Given the description of an element on the screen output the (x, y) to click on. 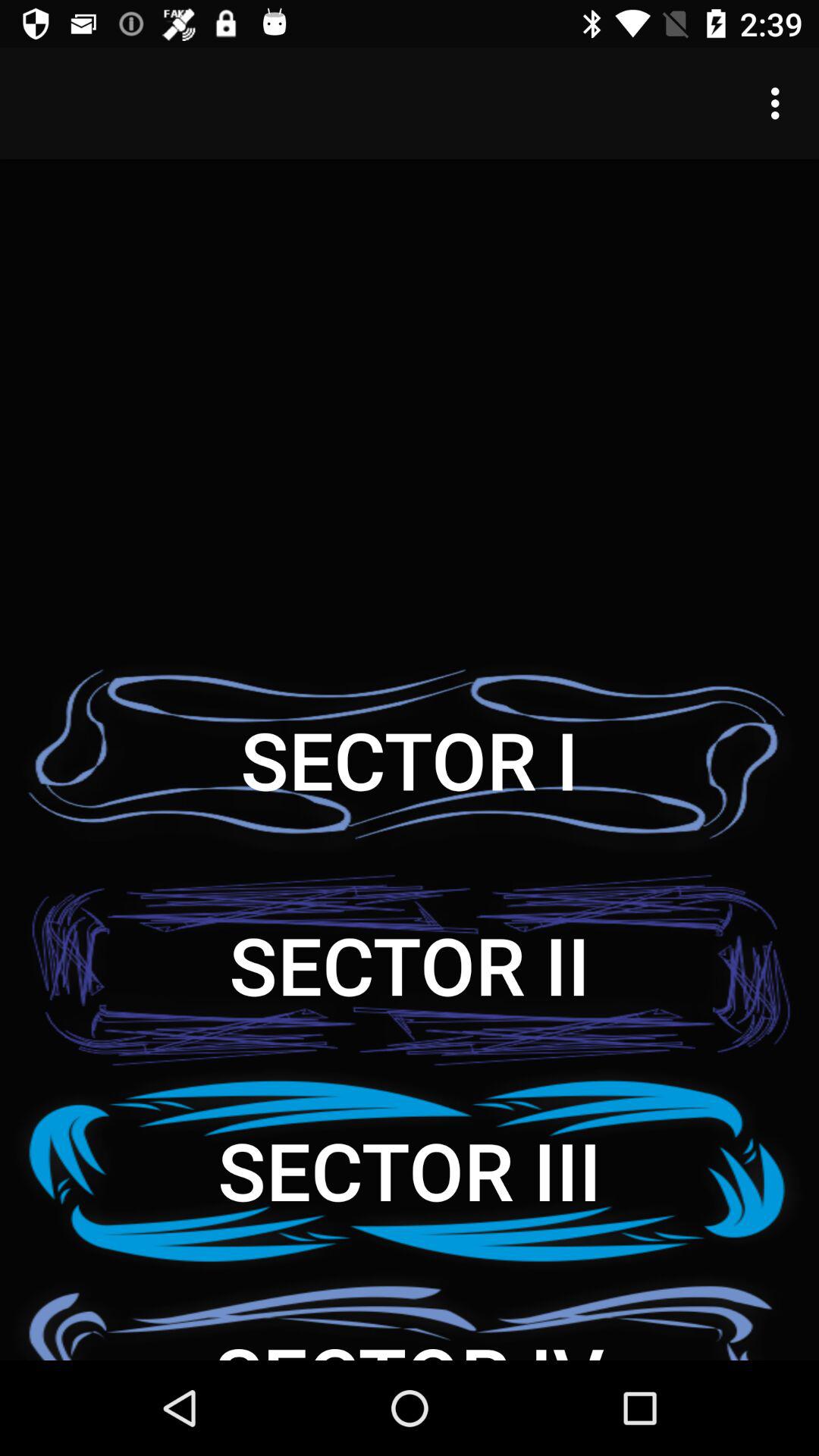
open sector iii icon (409, 1169)
